Given the description of an element on the screen output the (x, y) to click on. 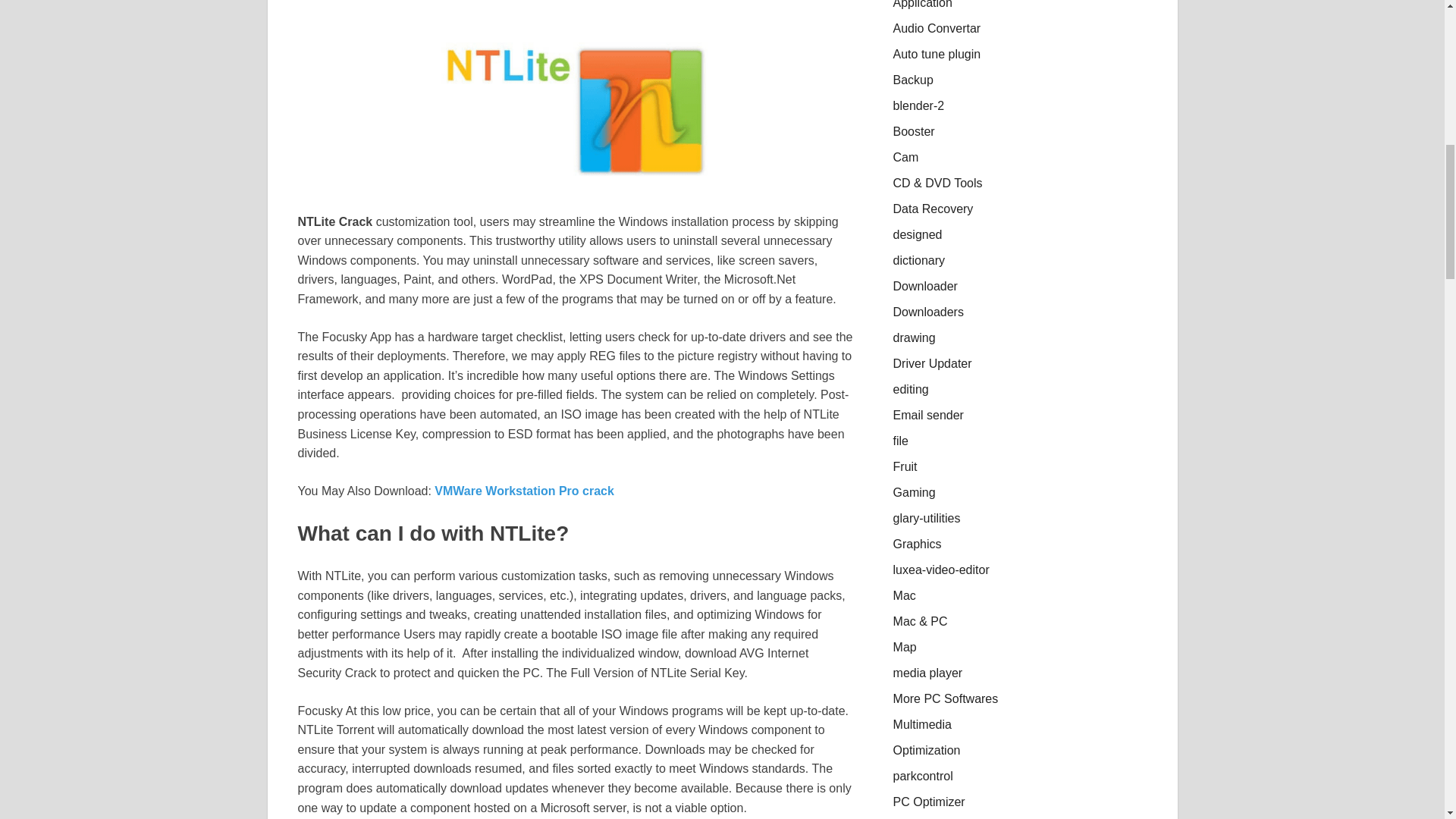
VMWare Workstation Pro crack  (523, 490)
